Given the description of an element on the screen output the (x, y) to click on. 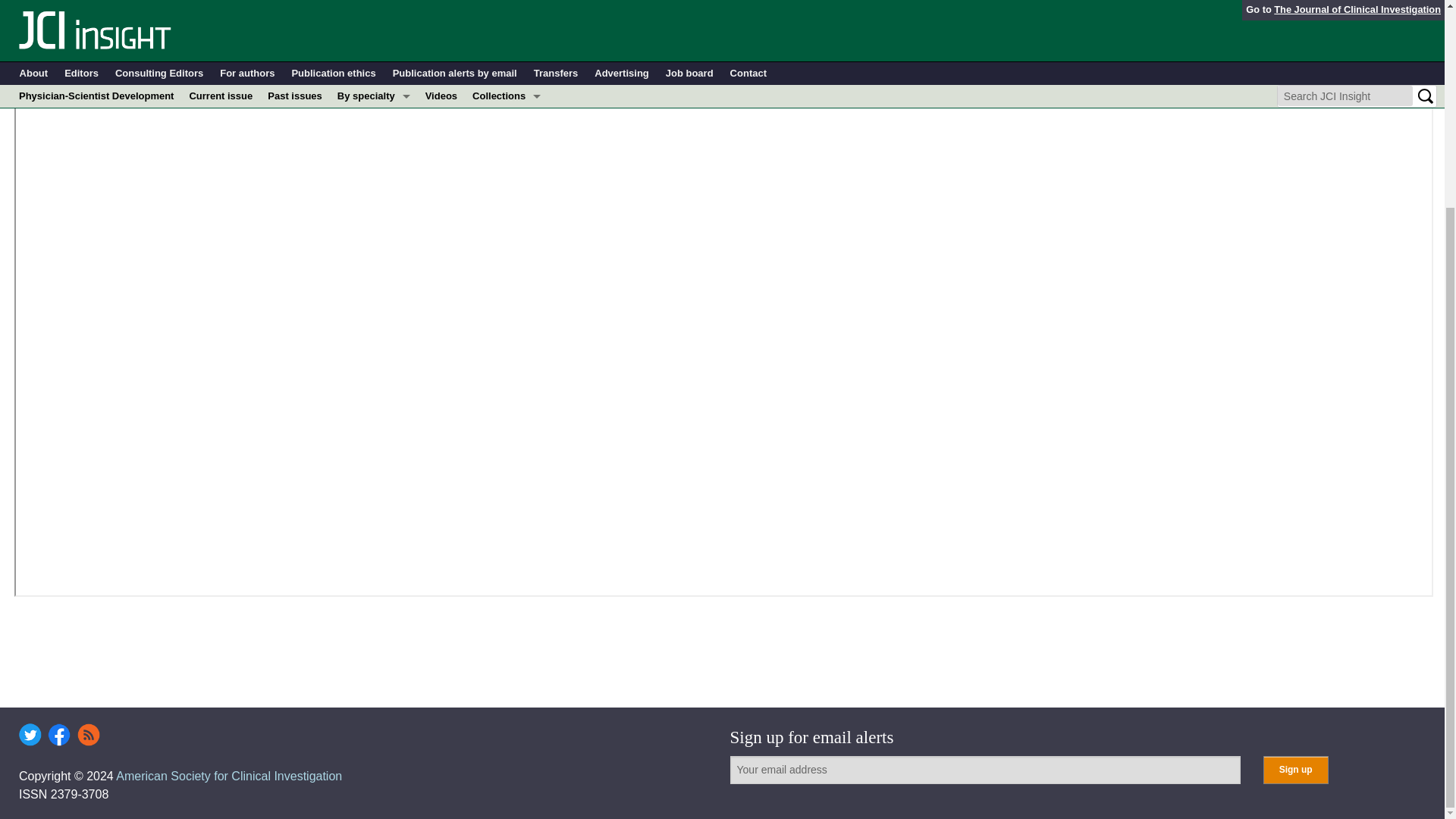
All ... (373, 11)
Facebook (58, 734)
Sign up (1295, 769)
Twitter (30, 734)
Top read articles (506, 11)
RSS (88, 734)
